Given the description of an element on the screen output the (x, y) to click on. 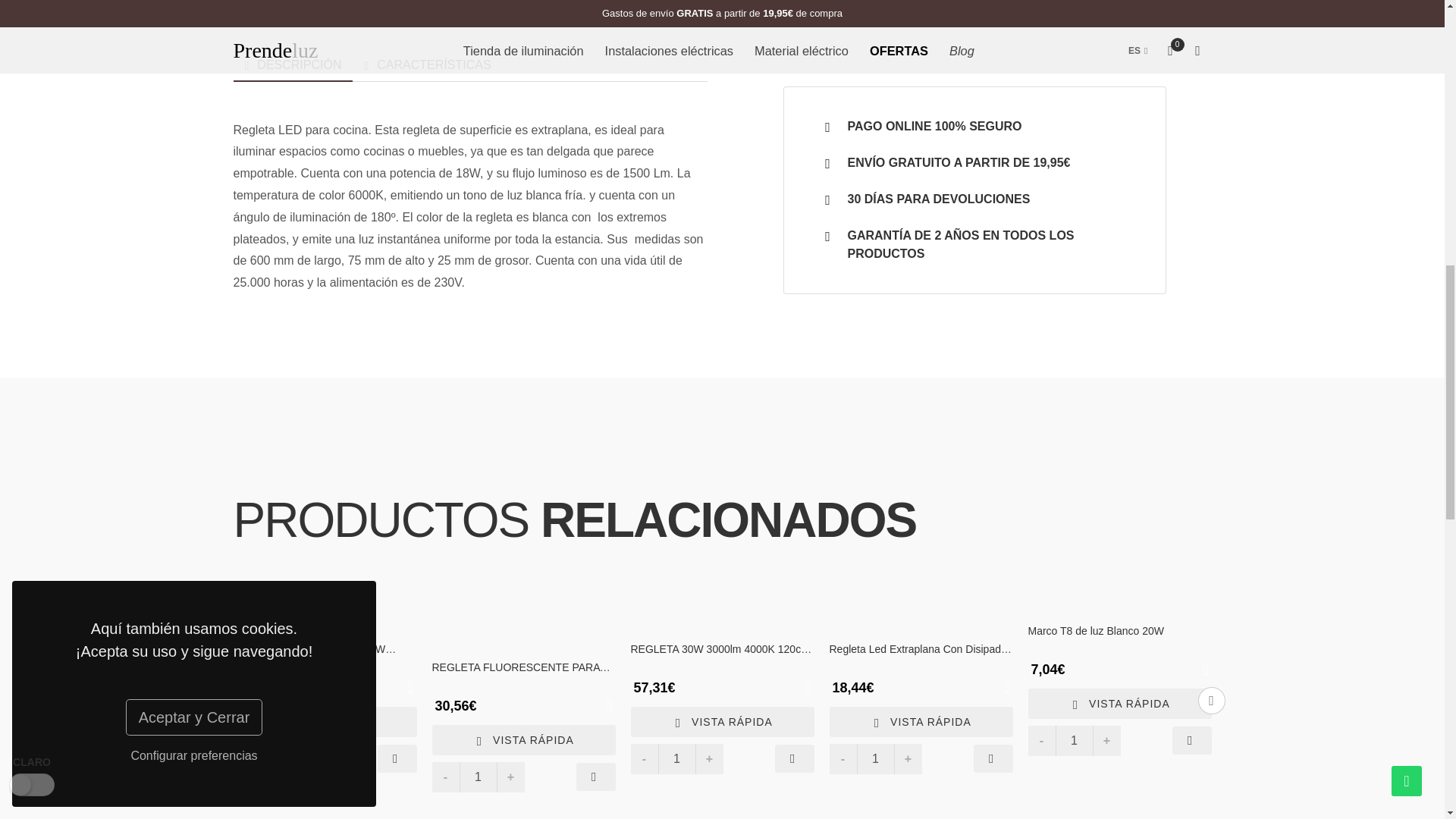
1 (279, 758)
1 (1074, 740)
- (843, 758)
- (246, 758)
- (644, 758)
- (1041, 740)
1 (676, 758)
- (446, 777)
1 (478, 777)
1 (876, 758)
